Given the description of an element on the screen output the (x, y) to click on. 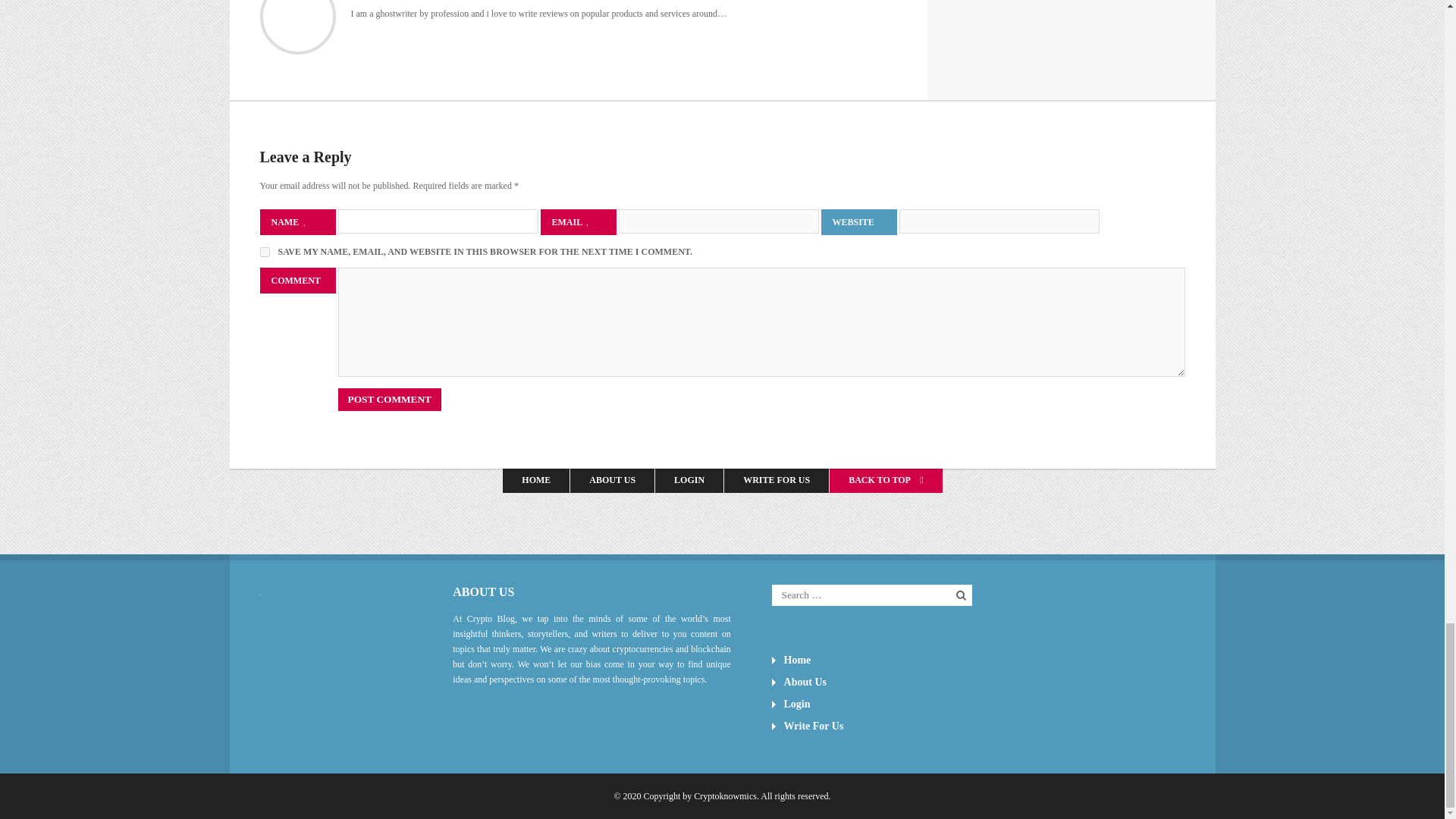
yes (264, 252)
Search (962, 594)
Search (962, 594)
Post Comment (389, 399)
